Given the description of an element on the screen output the (x, y) to click on. 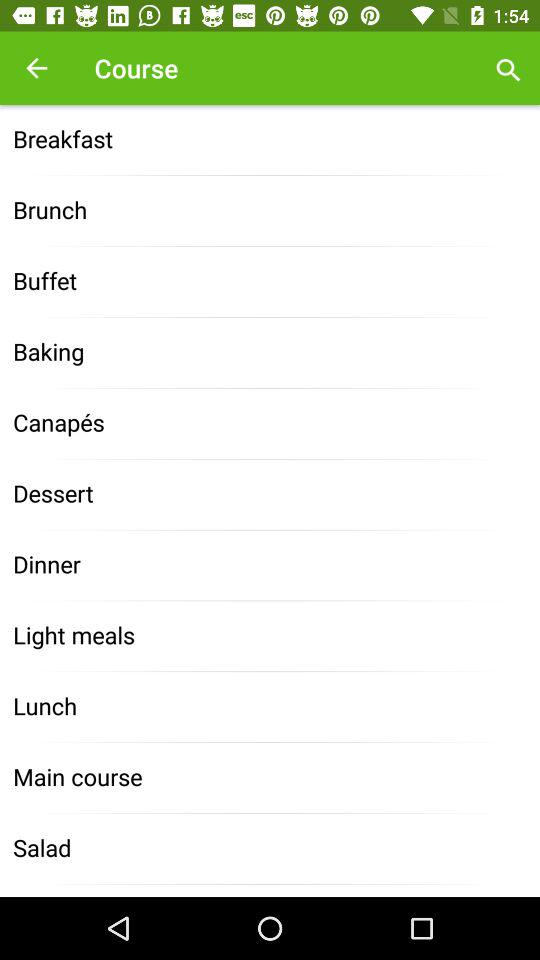
jump to the dinner item (270, 565)
